Given the description of an element on the screen output the (x, y) to click on. 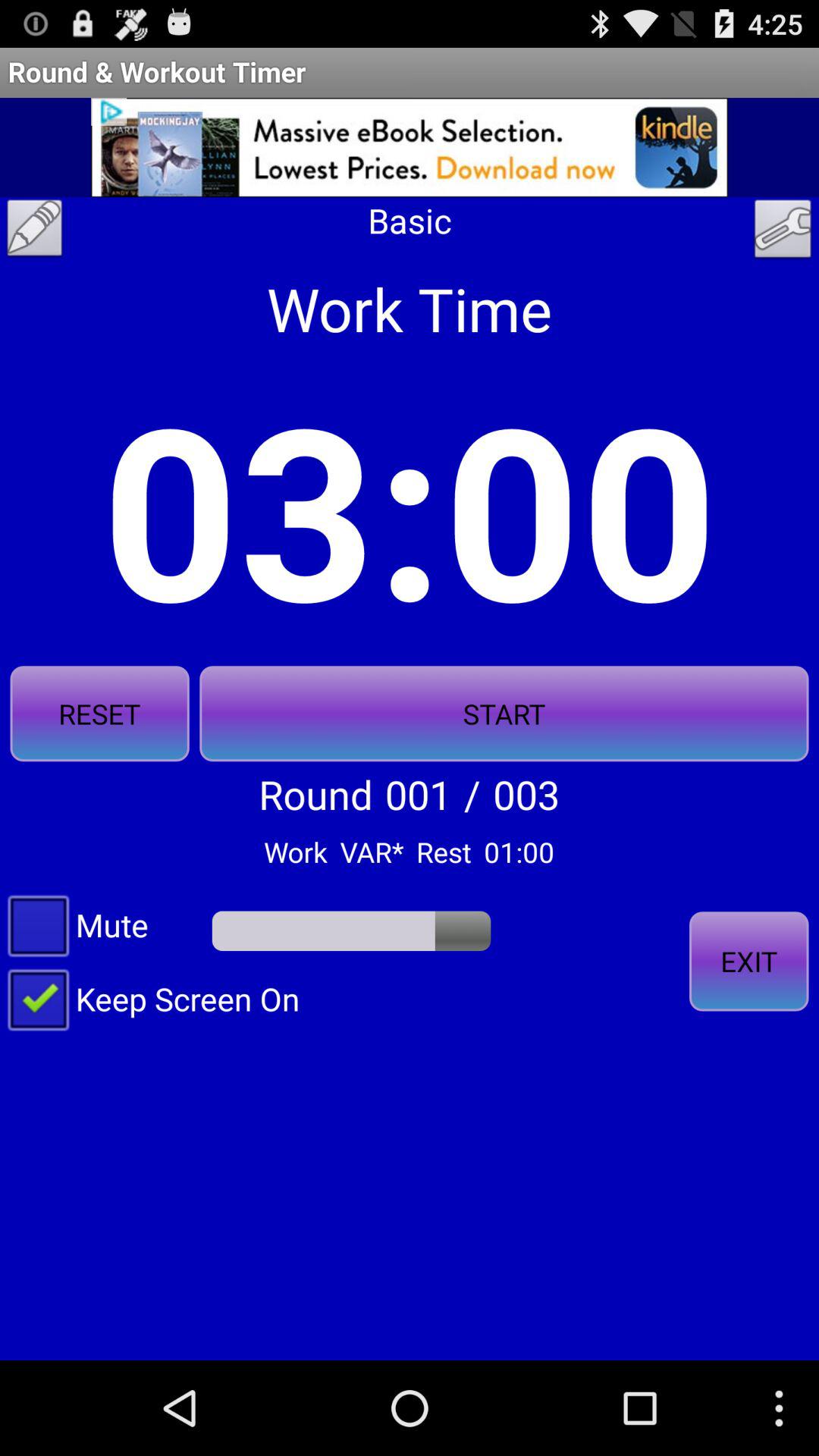
press the exit on the right (748, 961)
